Given the description of an element on the screen output the (x, y) to click on. 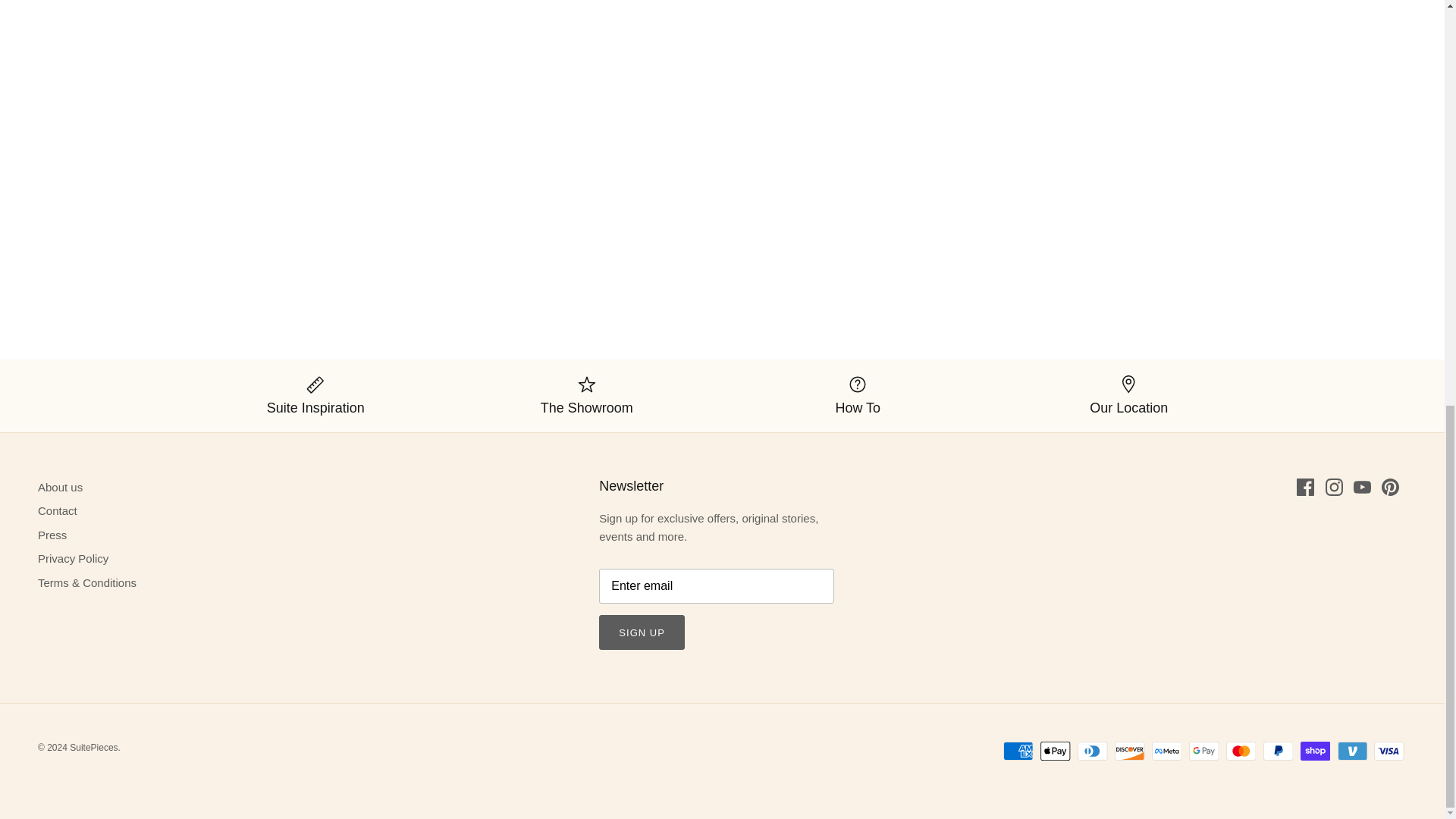
Youtube (1362, 487)
Diners Club (1092, 751)
Apple Pay (1055, 751)
Shop Pay (1315, 751)
Mastercard (1240, 751)
PayPal (1277, 751)
Instagram (1333, 487)
Visa (1388, 751)
Pinterest (1390, 487)
Venmo (1352, 751)
Google Pay (1203, 751)
Facebook (1305, 487)
Meta Pay (1166, 751)
Discover (1129, 751)
American Express (1018, 751)
